Given the description of an element on the screen output the (x, y) to click on. 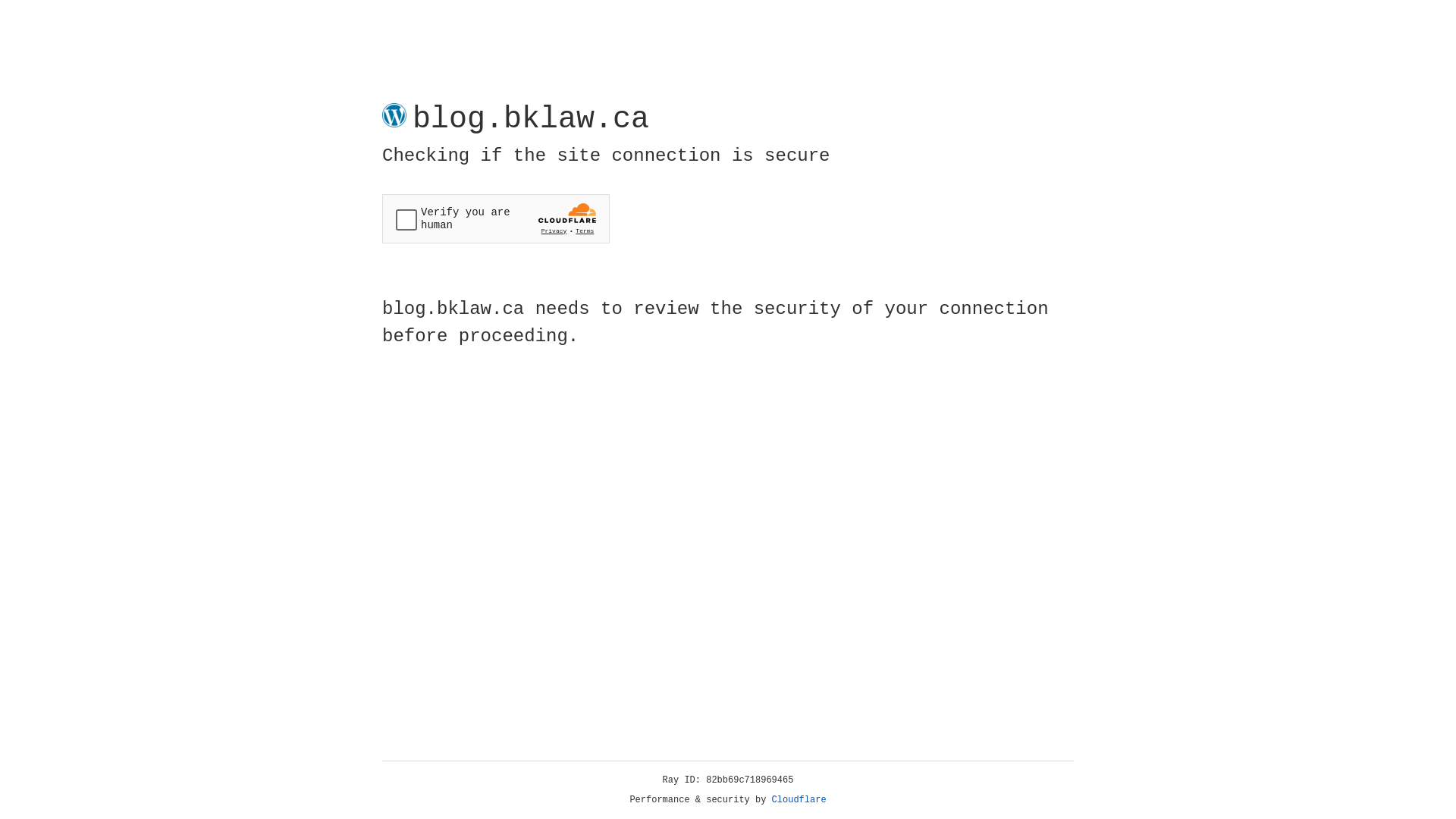
Widget containing a Cloudflare security challenge Element type: hover (495, 218)
Cloudflare Element type: text (798, 799)
